Given the description of an element on the screen output the (x, y) to click on. 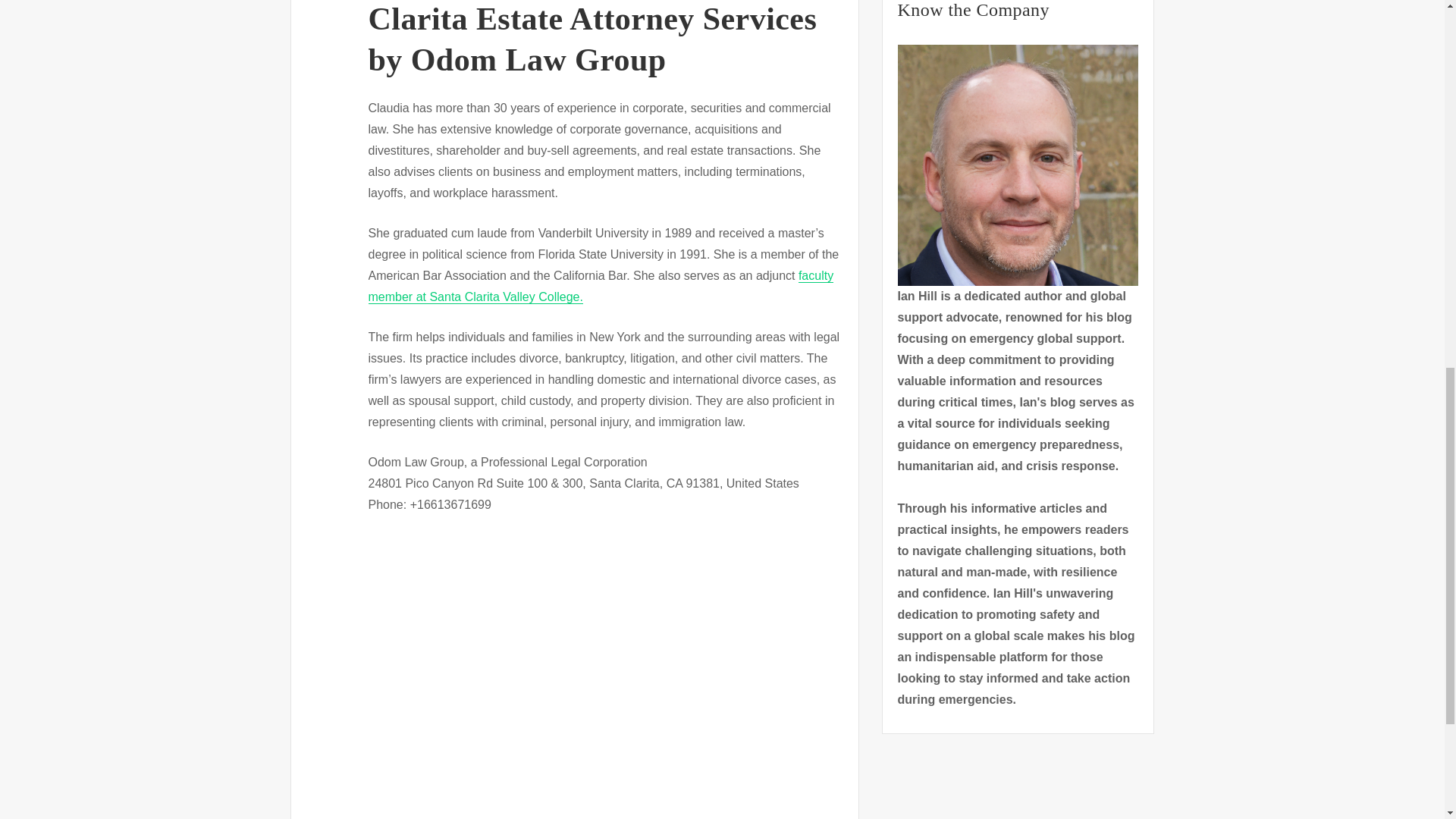
faculty member at Santa Clarita Valley College. (601, 286)
